Given the description of an element on the screen output the (x, y) to click on. 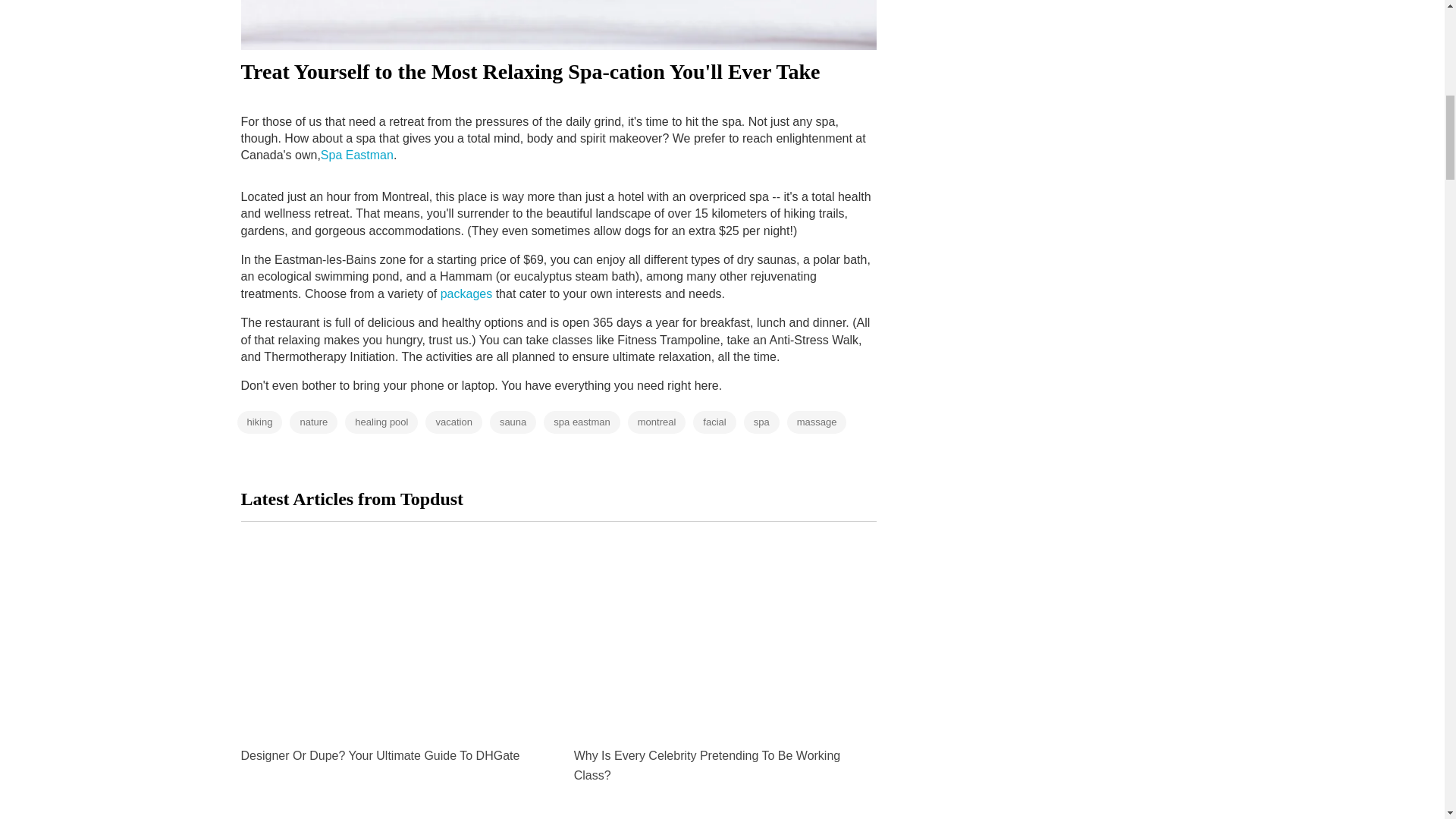
Spa Eastman (356, 154)
Advertisement (1051, 102)
